Given the description of an element on the screen output the (x, y) to click on. 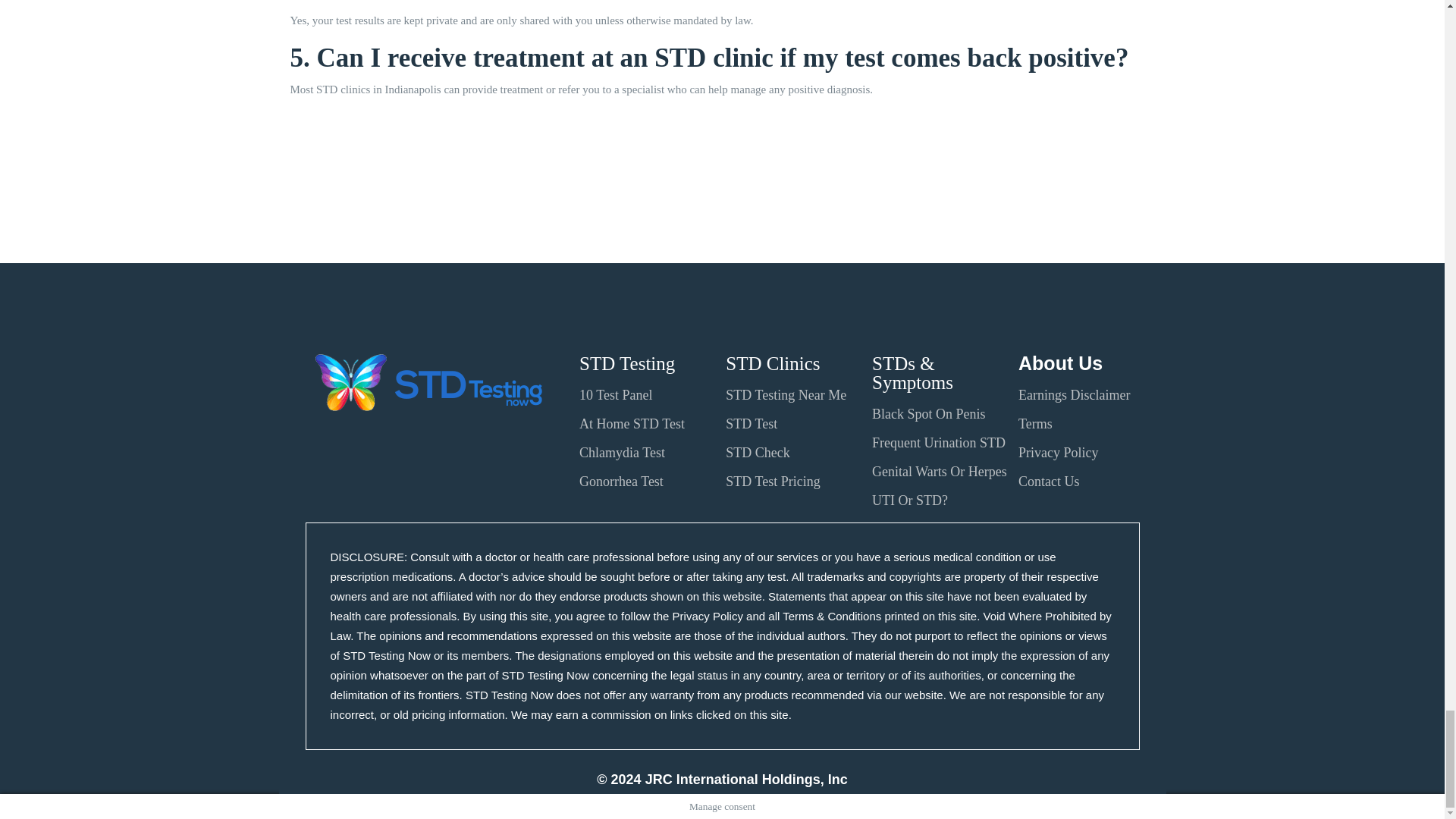
Gonorrhea Test (621, 481)
At Home STD Test (631, 423)
STD Testing (627, 362)
10 Test Panel (615, 394)
STD Test (751, 423)
Chlamydia Test (622, 452)
STD Testing Near Me (785, 394)
STD Clinics (772, 362)
